Given the description of an element on the screen output the (x, y) to click on. 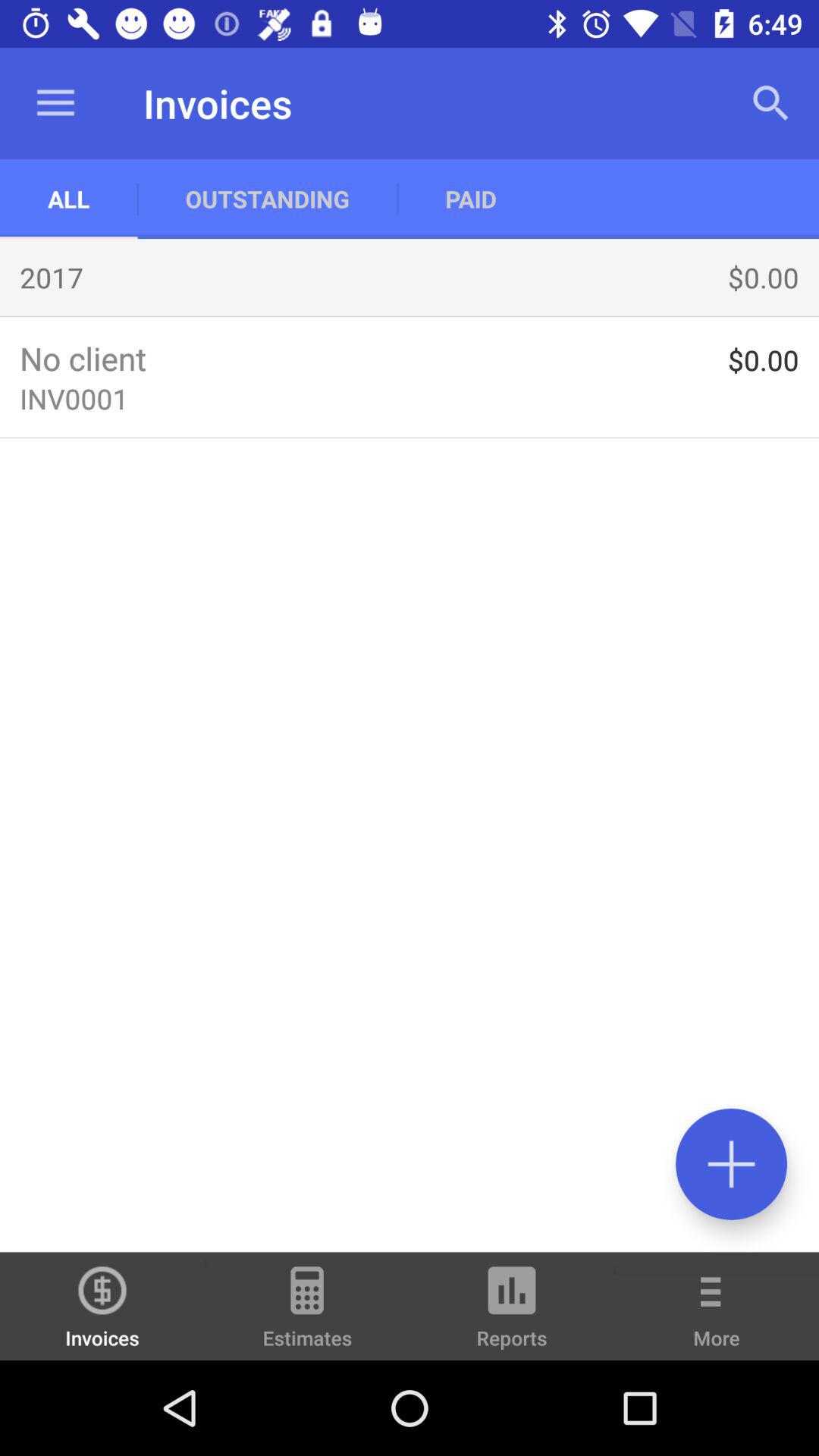
tap item next to the paid icon (267, 198)
